Given the description of an element on the screen output the (x, y) to click on. 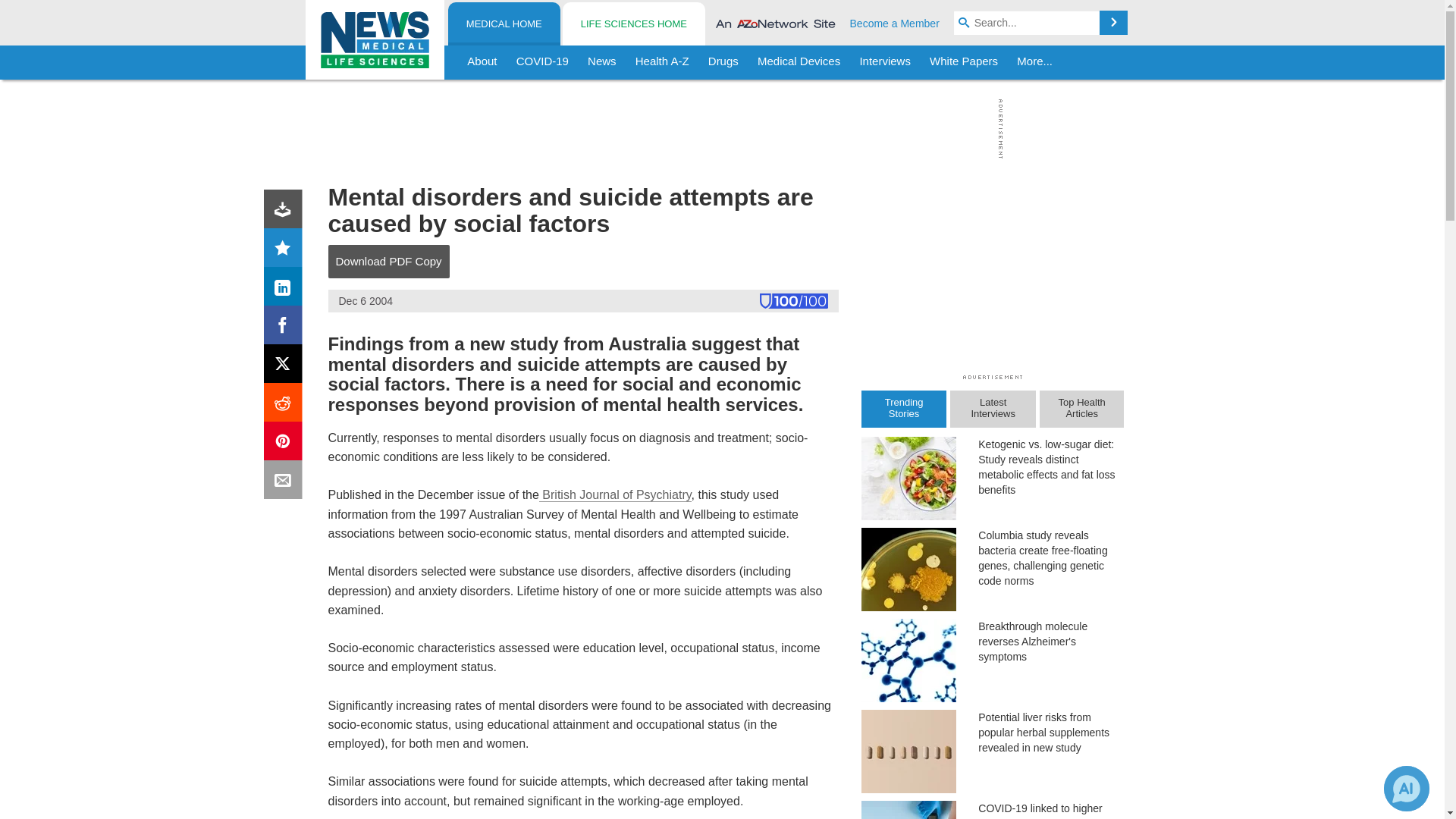
LinkedIn (285, 289)
About (482, 62)
Download PDF copy (285, 212)
Health A-Z (662, 62)
X (285, 366)
Become a Member (894, 22)
Medical Devices (798, 62)
MEDICAL HOME (504, 23)
Rating (285, 250)
LIFE SCIENCES HOME (633, 23)
